Given the description of an element on the screen output the (x, y) to click on. 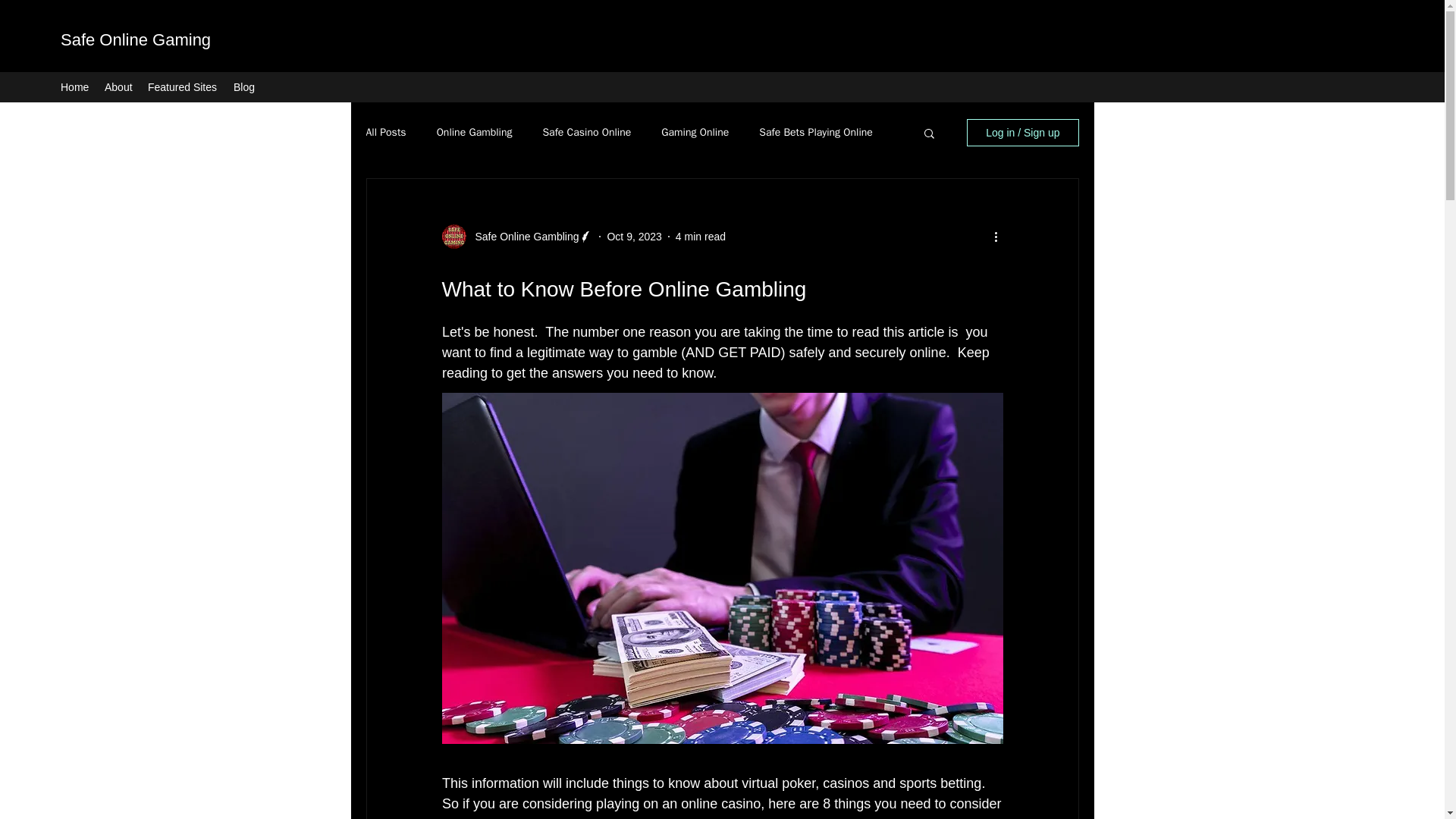
Safe Casino Online (585, 132)
Safe Online Gambling (521, 236)
About (118, 87)
Featured Sites (182, 87)
4 min read (700, 236)
Gaming Online (695, 132)
All Posts (385, 132)
Oct 9, 2023 (634, 236)
Blog (243, 87)
Safe Bets Playing Online (815, 132)
